Given the description of an element on the screen output the (x, y) to click on. 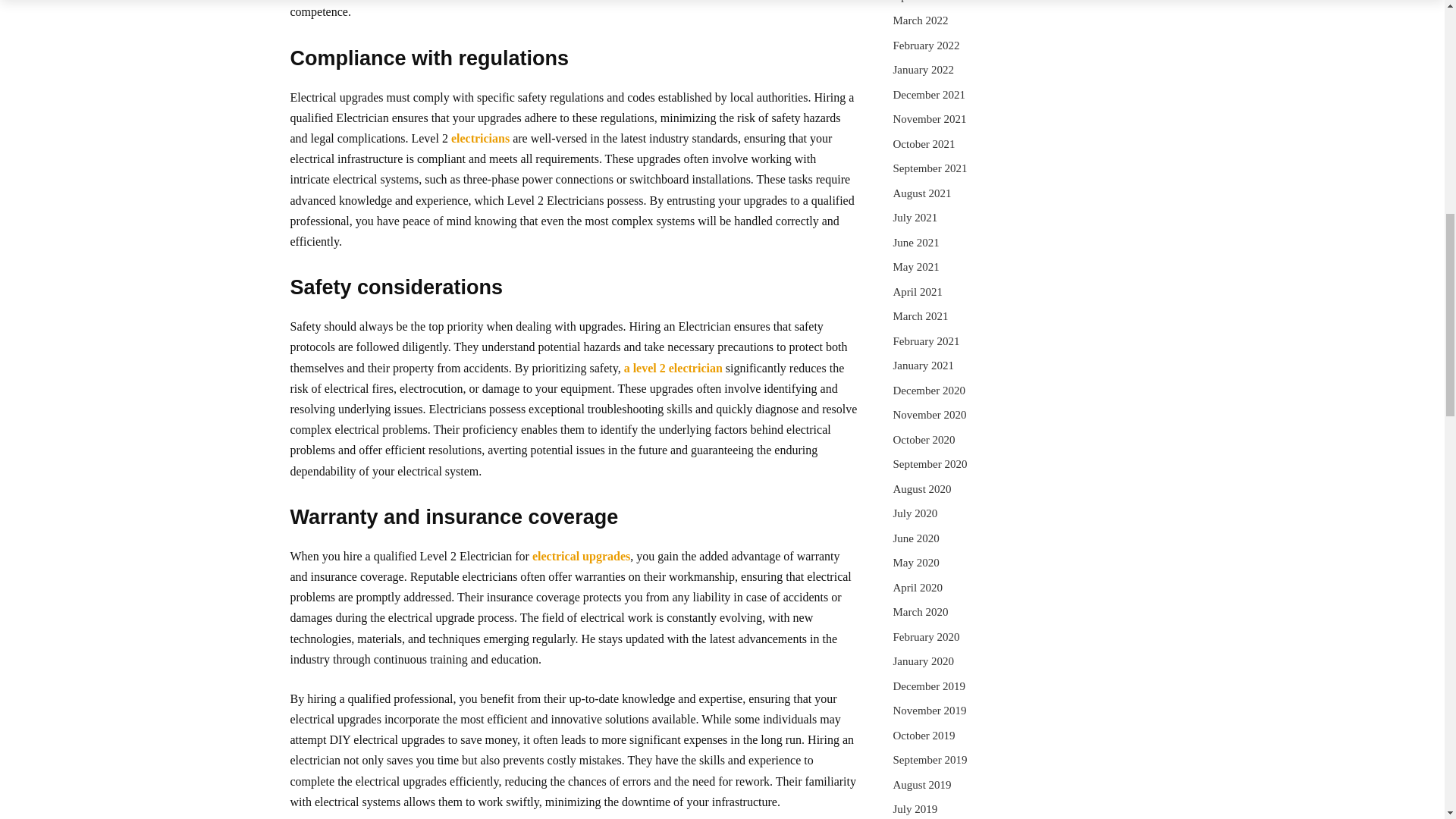
electricians (480, 137)
a level 2 electrician (673, 367)
